Given the description of an element on the screen output the (x, y) to click on. 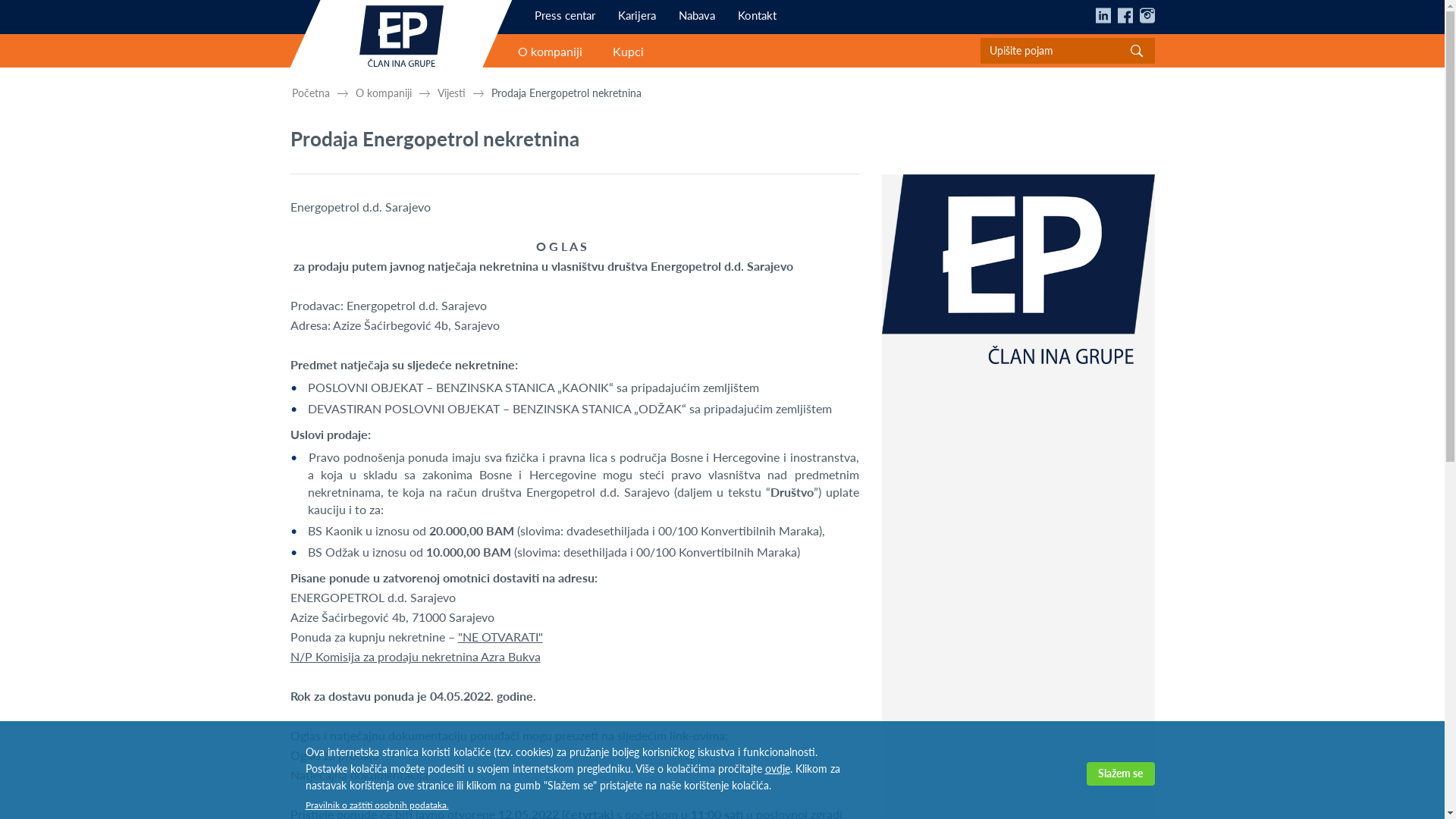
Press centar Element type: text (564, 15)
O kompaniji Element type: text (549, 51)
O kompaniji Element type: text (382, 92)
Kontakt Element type: text (756, 15)
Karijera Element type: text (636, 15)
Kupci Element type: text (627, 51)
Oglas za prodaju Element type: text (333, 754)
Nabava Element type: text (696, 15)
ovdje Element type: text (776, 768)
Vijesti Element type: text (450, 92)
